Given the description of an element on the screen output the (x, y) to click on. 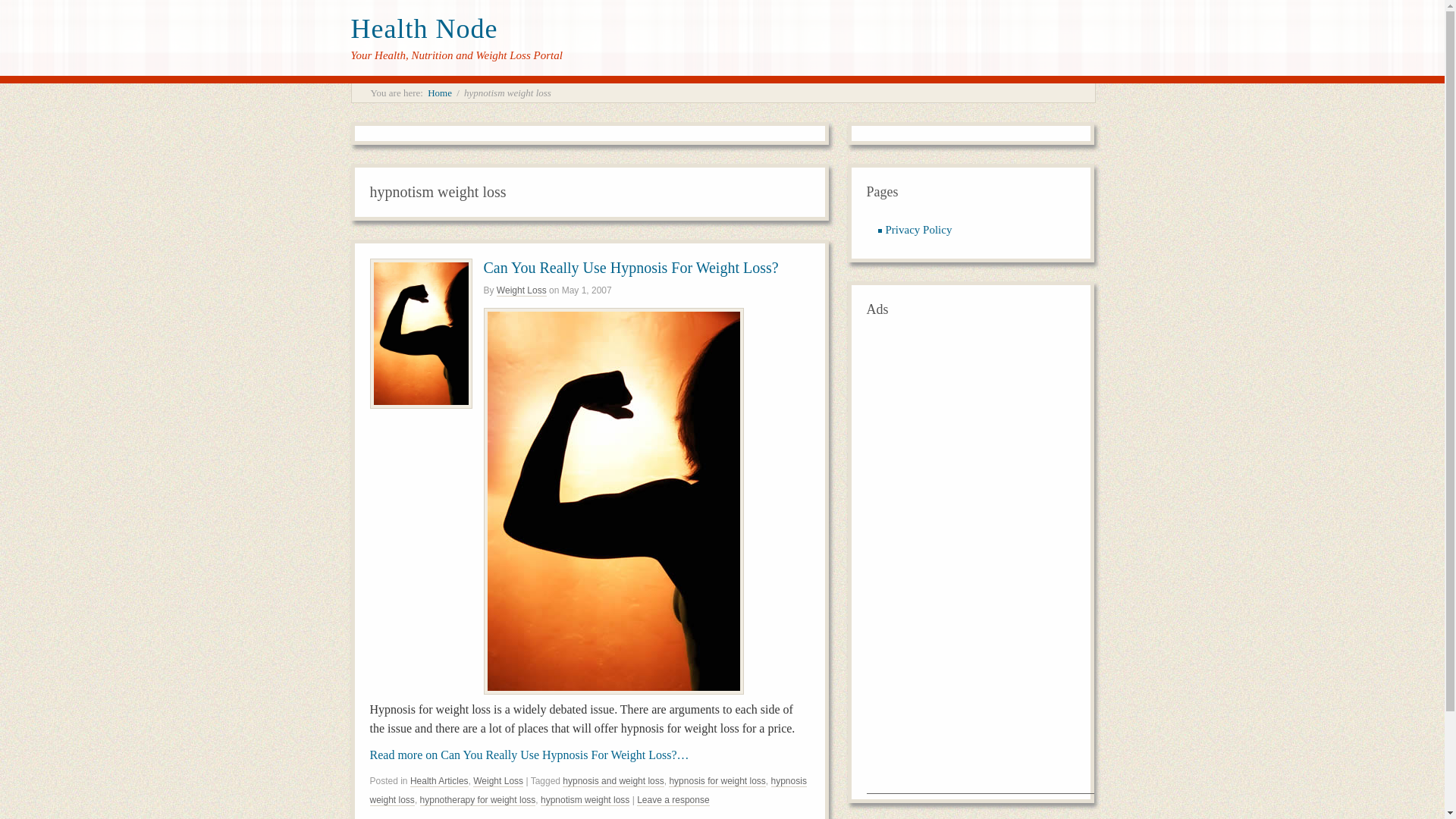
Can You Really Use Hypnosis For Weight Loss? (630, 267)
Privacy Policy (918, 229)
hypnosis.jpg (613, 689)
hypnosis for weight loss (716, 781)
hypnotism weight loss (584, 799)
hypnosis and weight loss (612, 781)
hypnosis weight loss (587, 790)
Weight Loss (521, 290)
Health Articles (439, 781)
Leave a response (673, 799)
Health Node (423, 28)
hypnotherapy for weight loss (477, 799)
Weight Loss (521, 290)
Health Node (423, 28)
Home (439, 92)
